Given the description of an element on the screen output the (x, y) to click on. 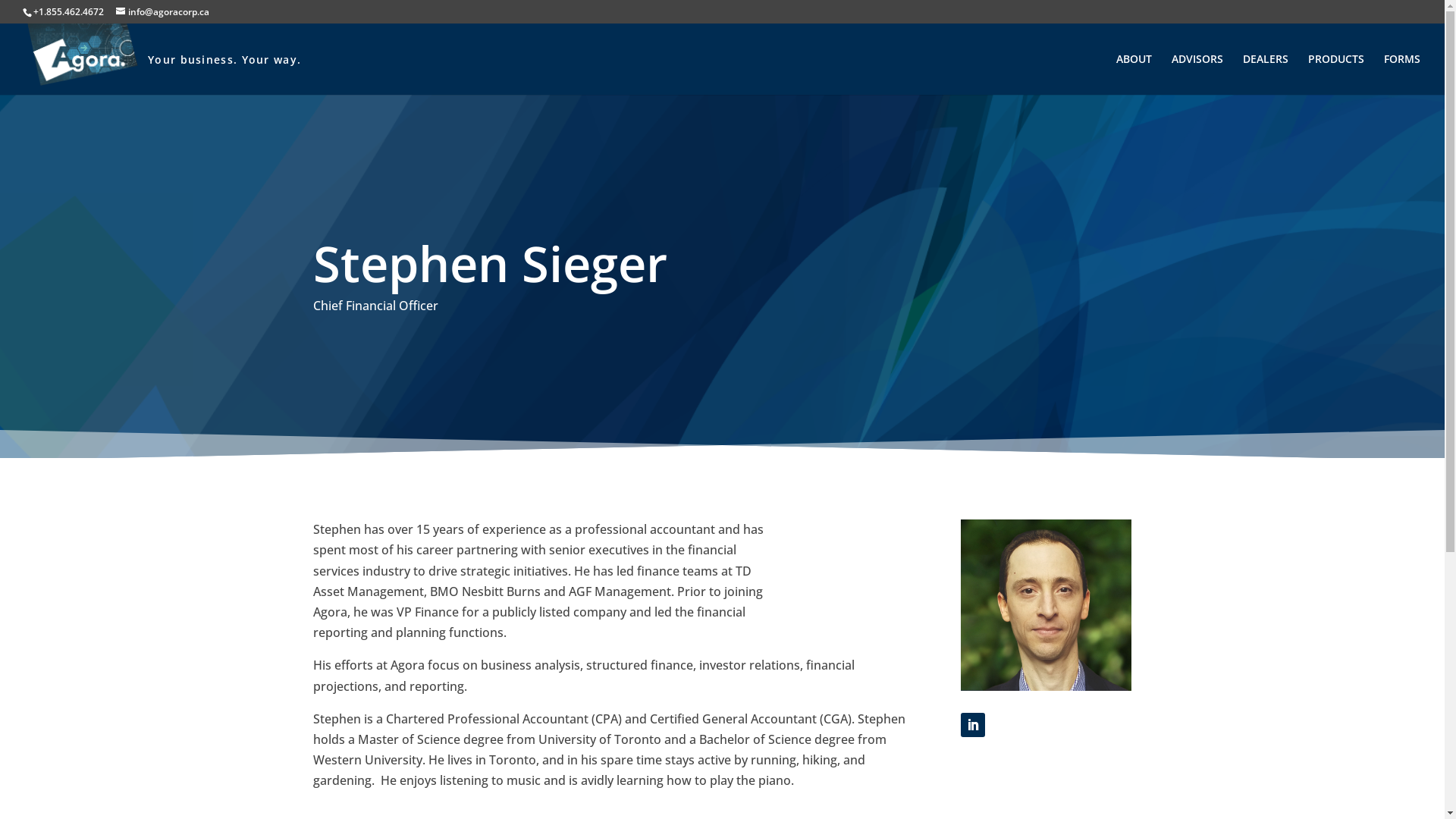
ABOUT Element type: text (1133, 73)
Follow on LinkedIn Element type: hover (972, 724)
ADVISORS Element type: text (1197, 73)
DEALERS Element type: text (1265, 73)
PRODUCTS Element type: text (1336, 73)
Stephen Element type: hover (1045, 604)
info@agoracorp.ca Element type: text (162, 11)
FORMS Element type: text (1401, 73)
